Given the description of an element on the screen output the (x, y) to click on. 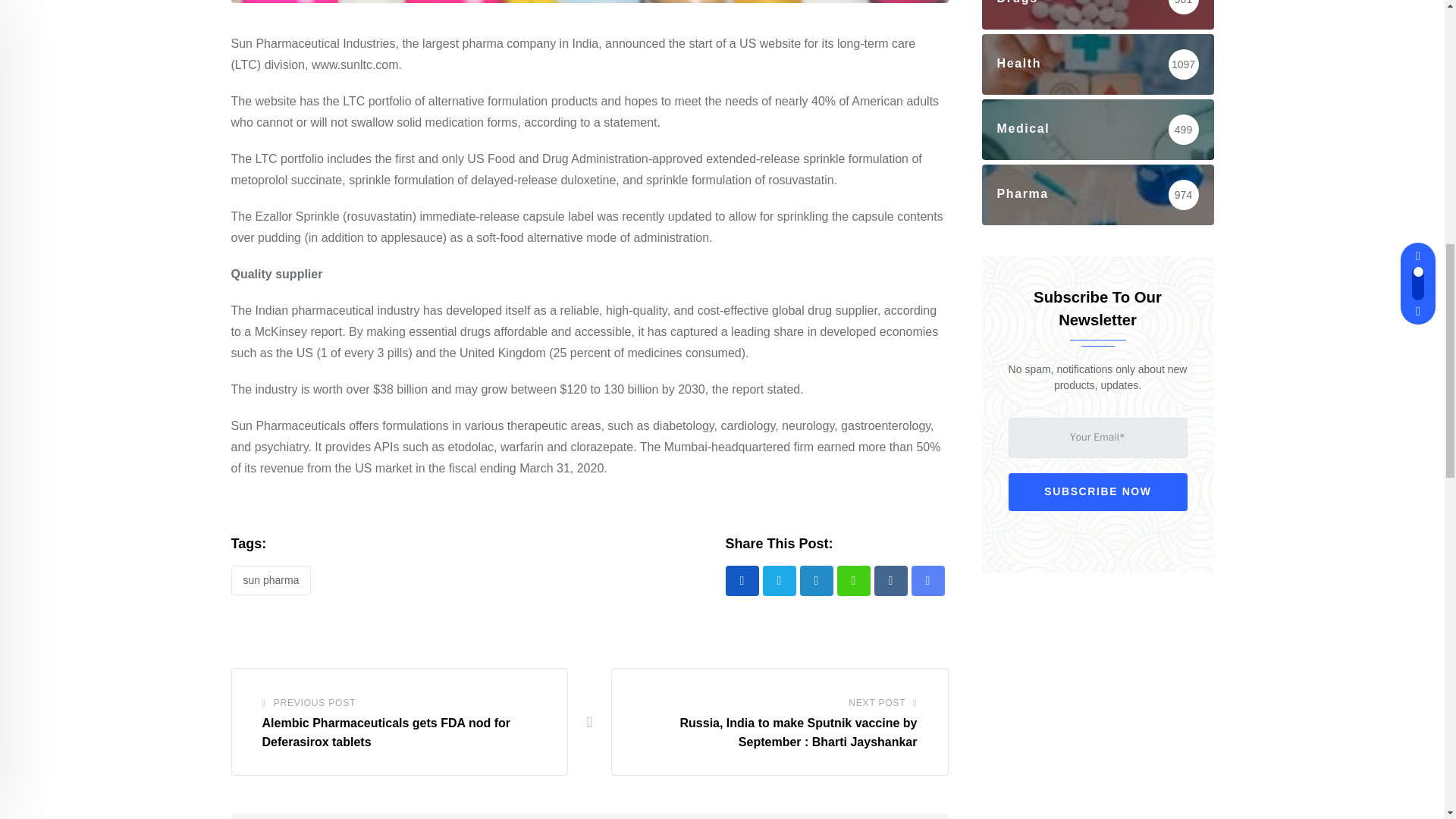
sun pharma (270, 580)
